Given the description of an element on the screen output the (x, y) to click on. 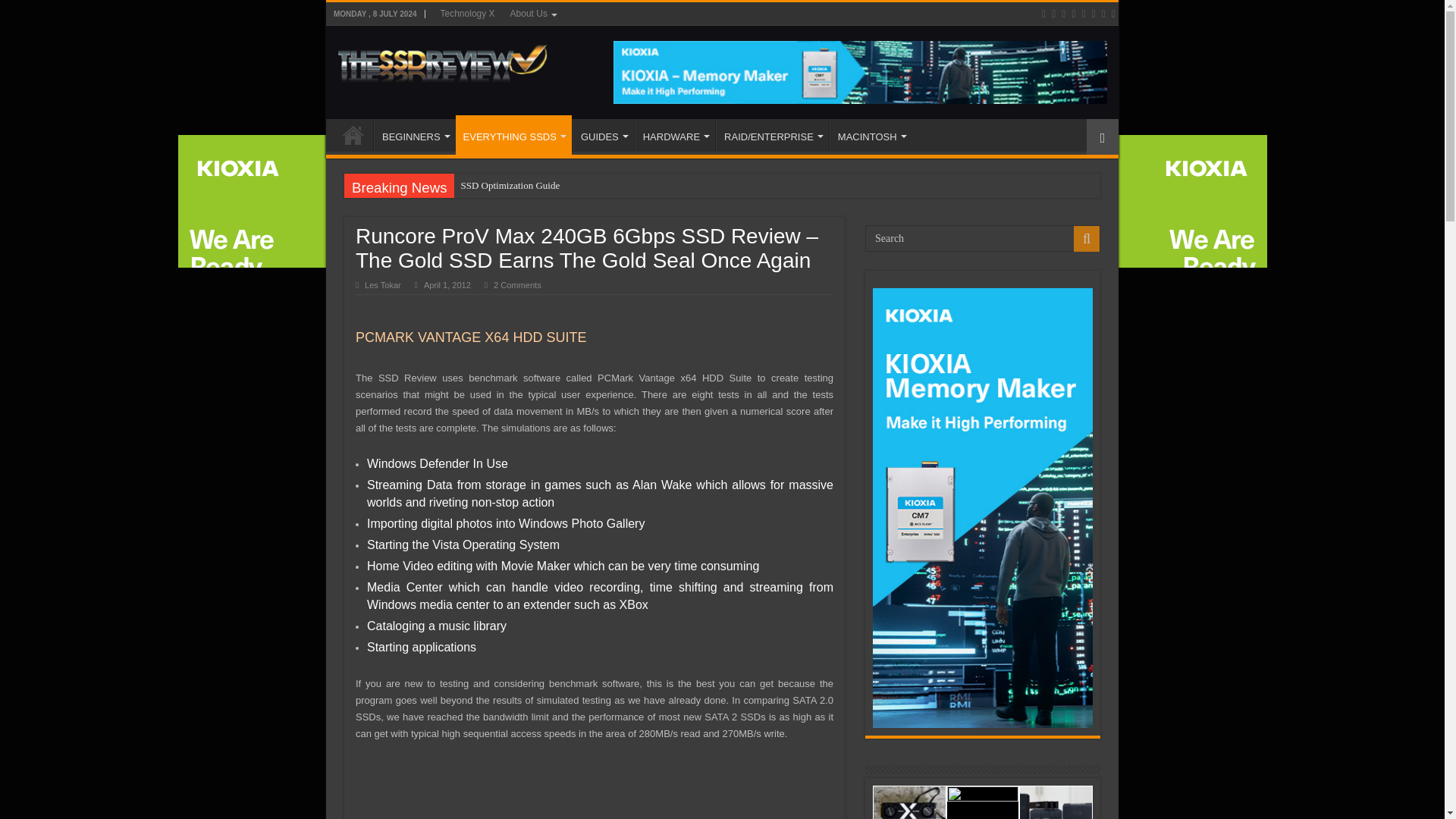
StumbleUpon (1103, 13)
LinkedIn (1073, 13)
Facebook (1053, 13)
Twitter (1063, 13)
Reddit (1083, 13)
Delicious (1093, 13)
Search (982, 238)
Rss (1043, 13)
